Given the description of an element on the screen output the (x, y) to click on. 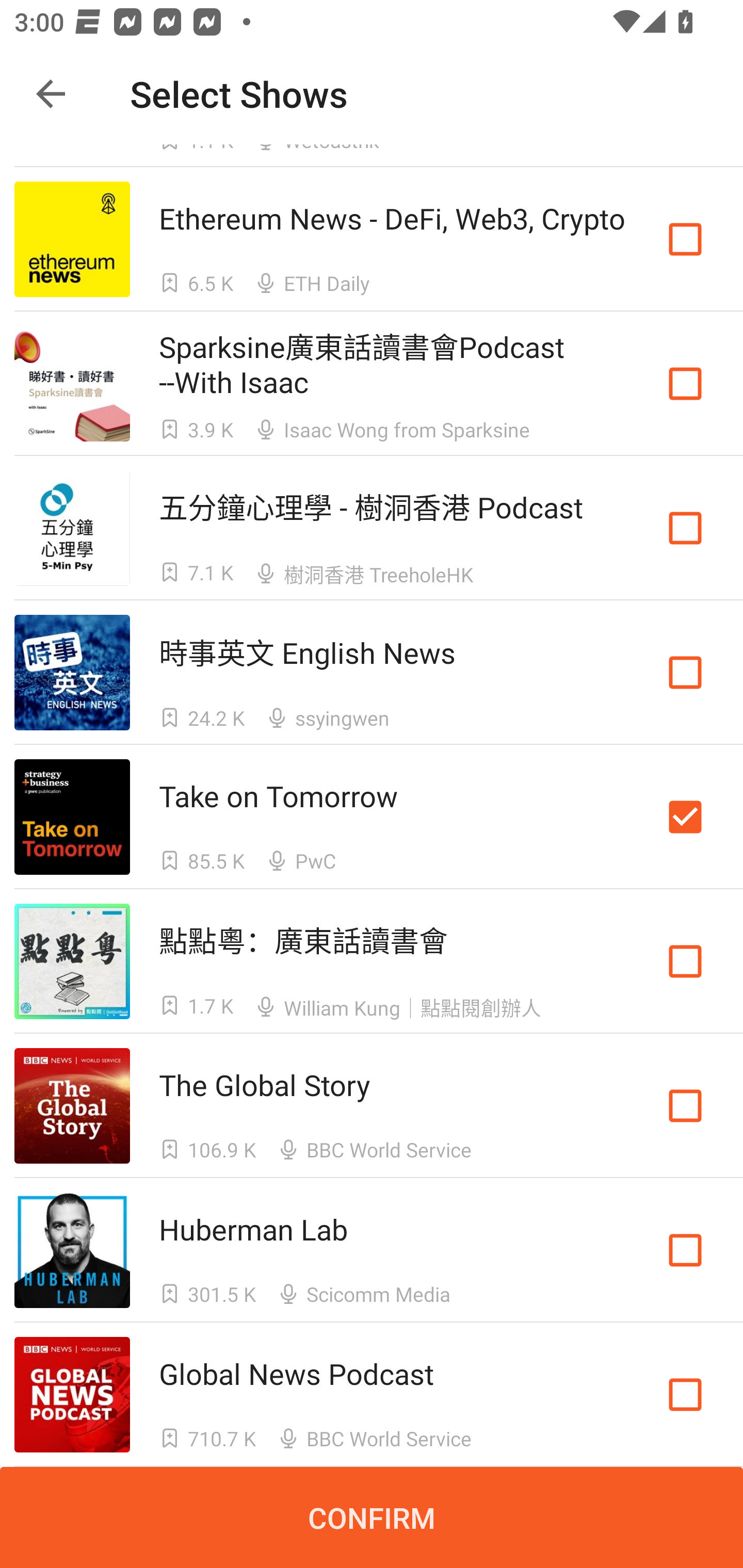
Navigate up (50, 93)
Take on Tomorrow Take on Tomorrow  85.5 K  PwC (371, 816)
CONFIRM (371, 1517)
